Given the description of an element on the screen output the (x, y) to click on. 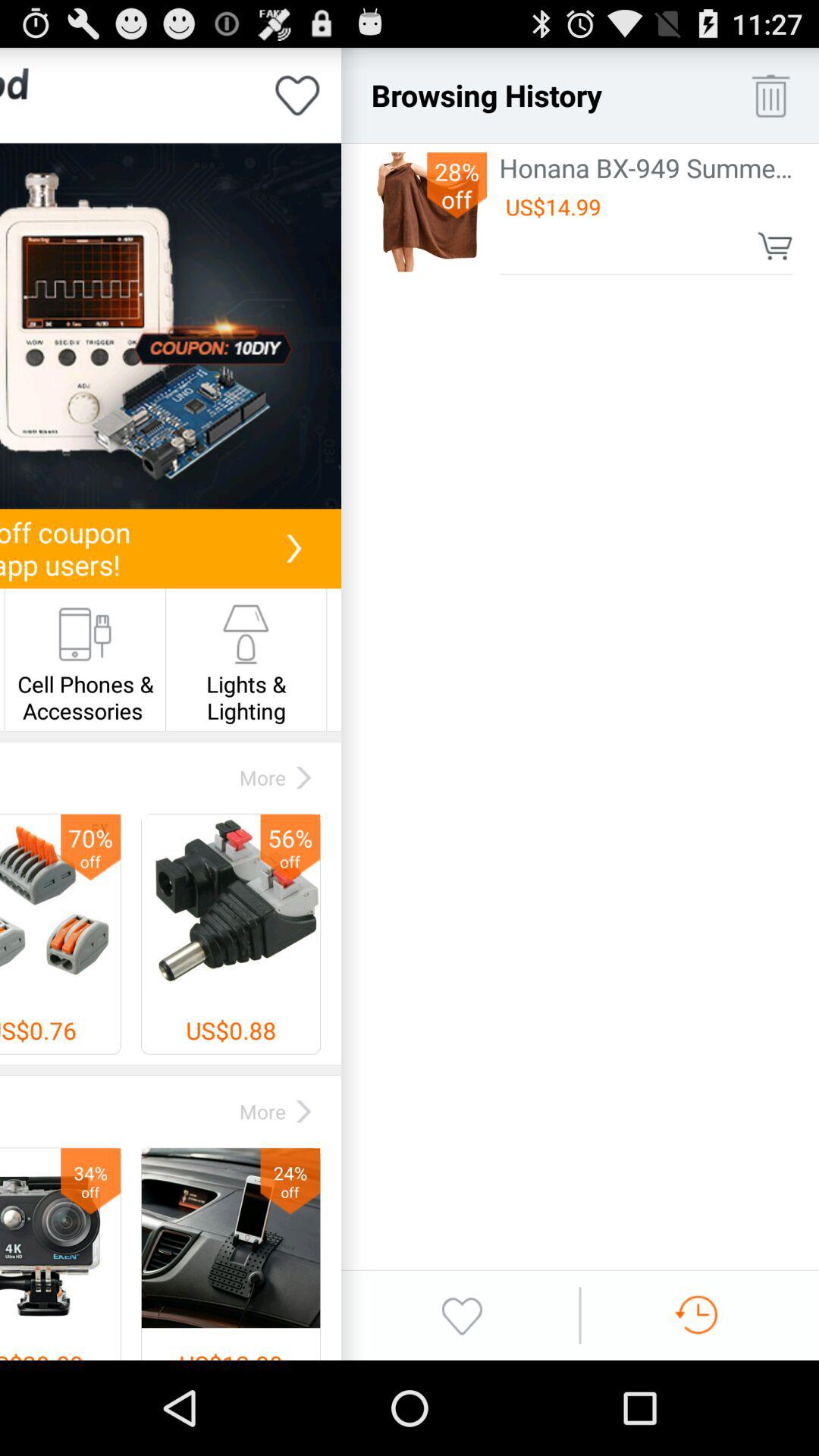
add to favorites (297, 95)
